Given the description of an element on the screen output the (x, y) to click on. 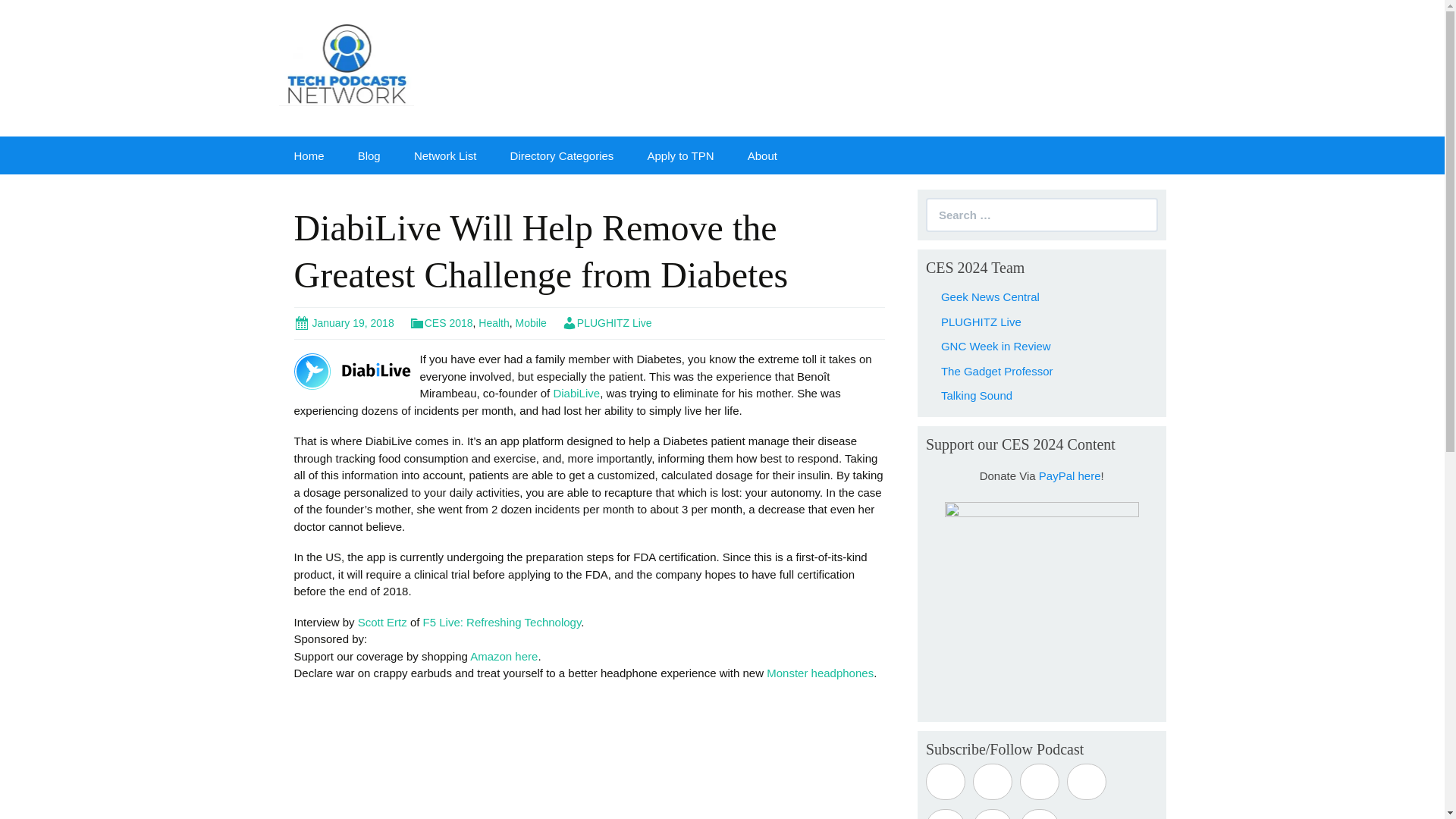
Search for: (1041, 214)
Subscribe on Blubrry (1039, 781)
Subscribe on Android (991, 781)
GNC Week in Review (995, 345)
More Subscribe Options (1039, 814)
Mobile (531, 322)
F5 Live: Refreshing Technology (501, 621)
Tech Podcast Network (346, 62)
View all posts by PLUGHITZ Live (607, 322)
Subscribe on Apple Podcasts (945, 781)
PLUGHITZ Live (607, 322)
Subscribe by Email (945, 814)
Health (493, 322)
